Given the description of an element on the screen output the (x, y) to click on. 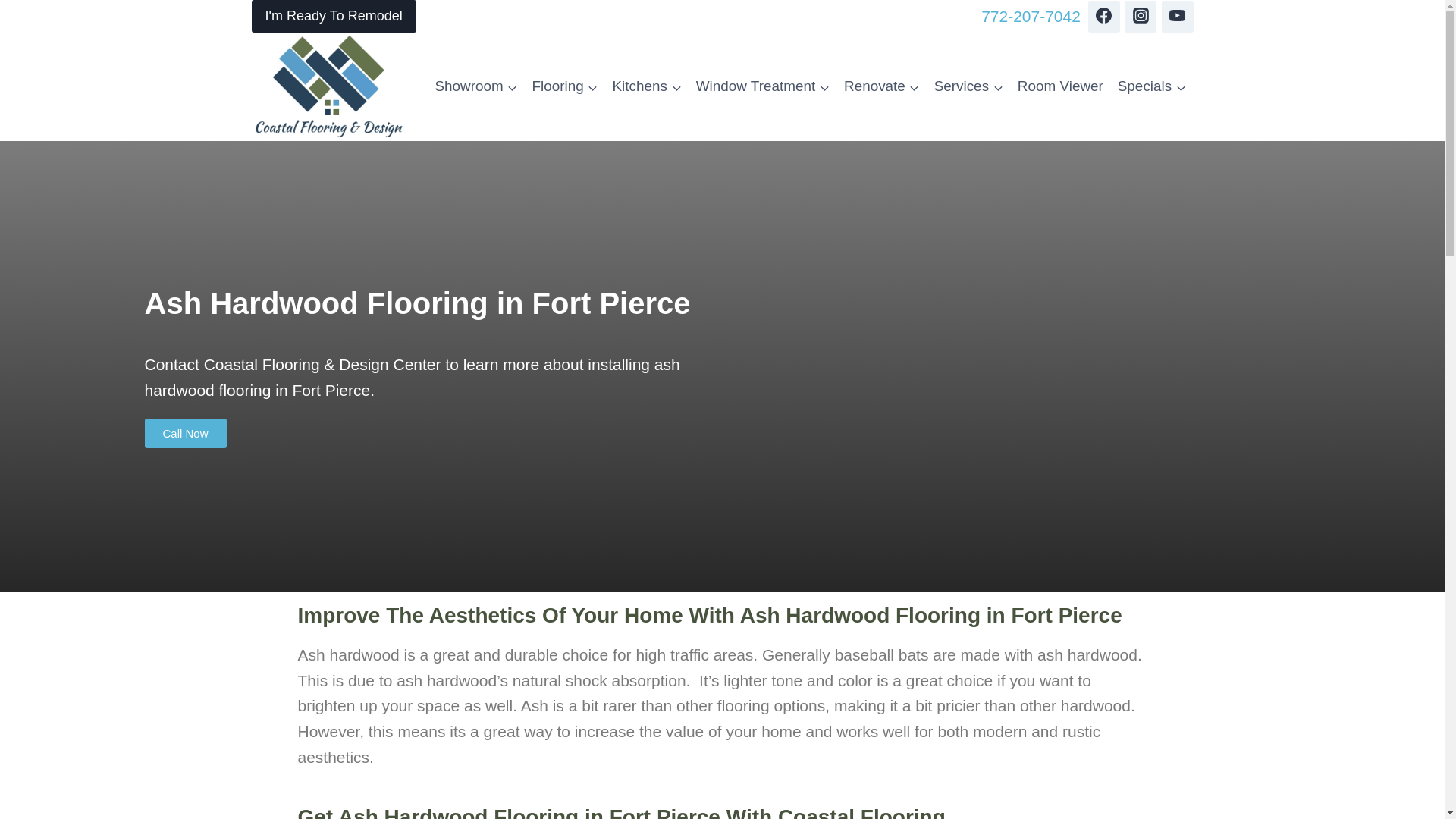
772-207-7042 (1030, 16)
Showroom (476, 87)
Flooring (564, 87)
I'm Ready To Remodel (333, 16)
